Given the description of an element on the screen output the (x, y) to click on. 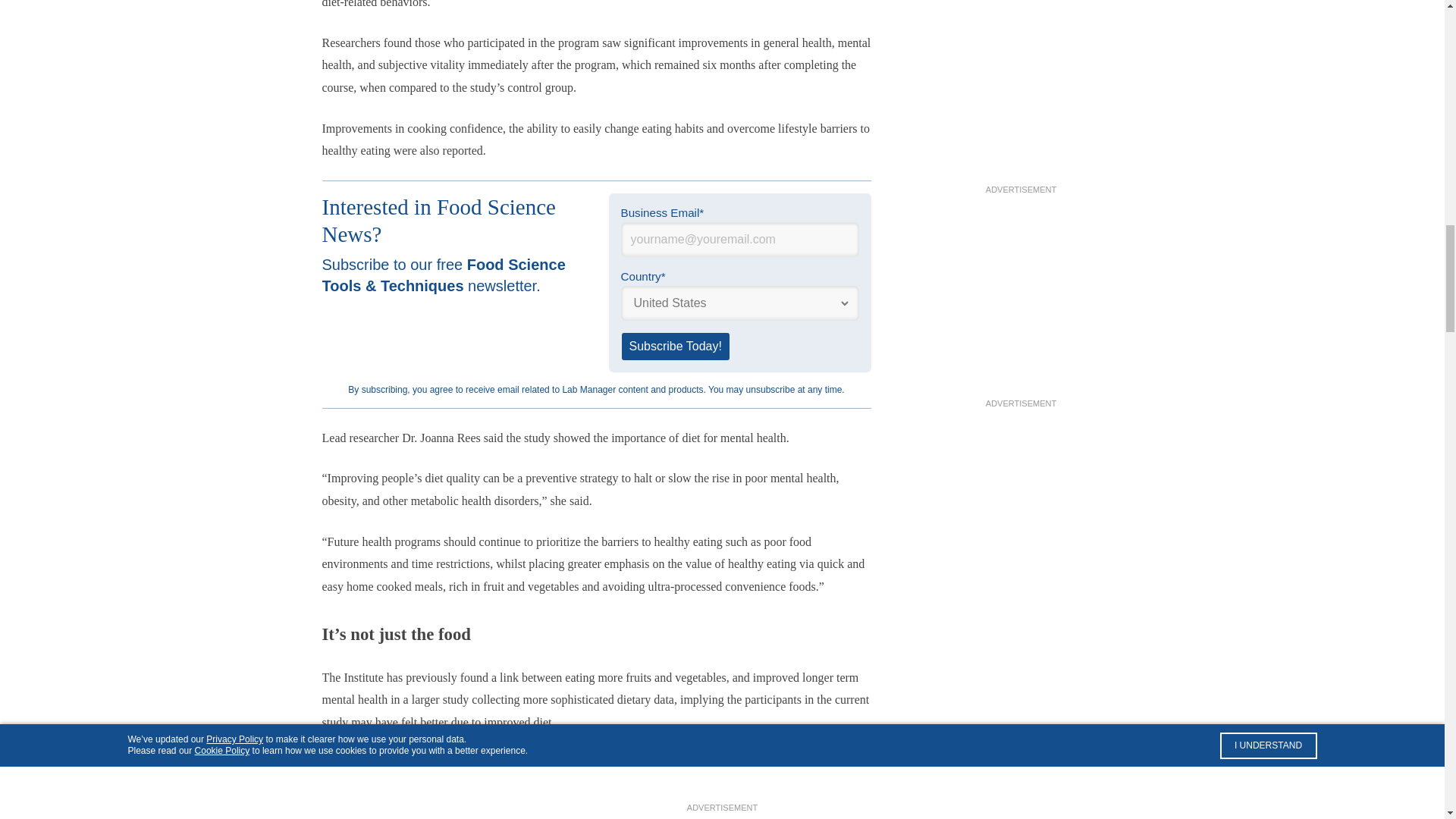
3rd party ad content (1020, 803)
Subscribe Today! (675, 346)
3rd party ad content (1020, 301)
